Given the description of an element on the screen output the (x, y) to click on. 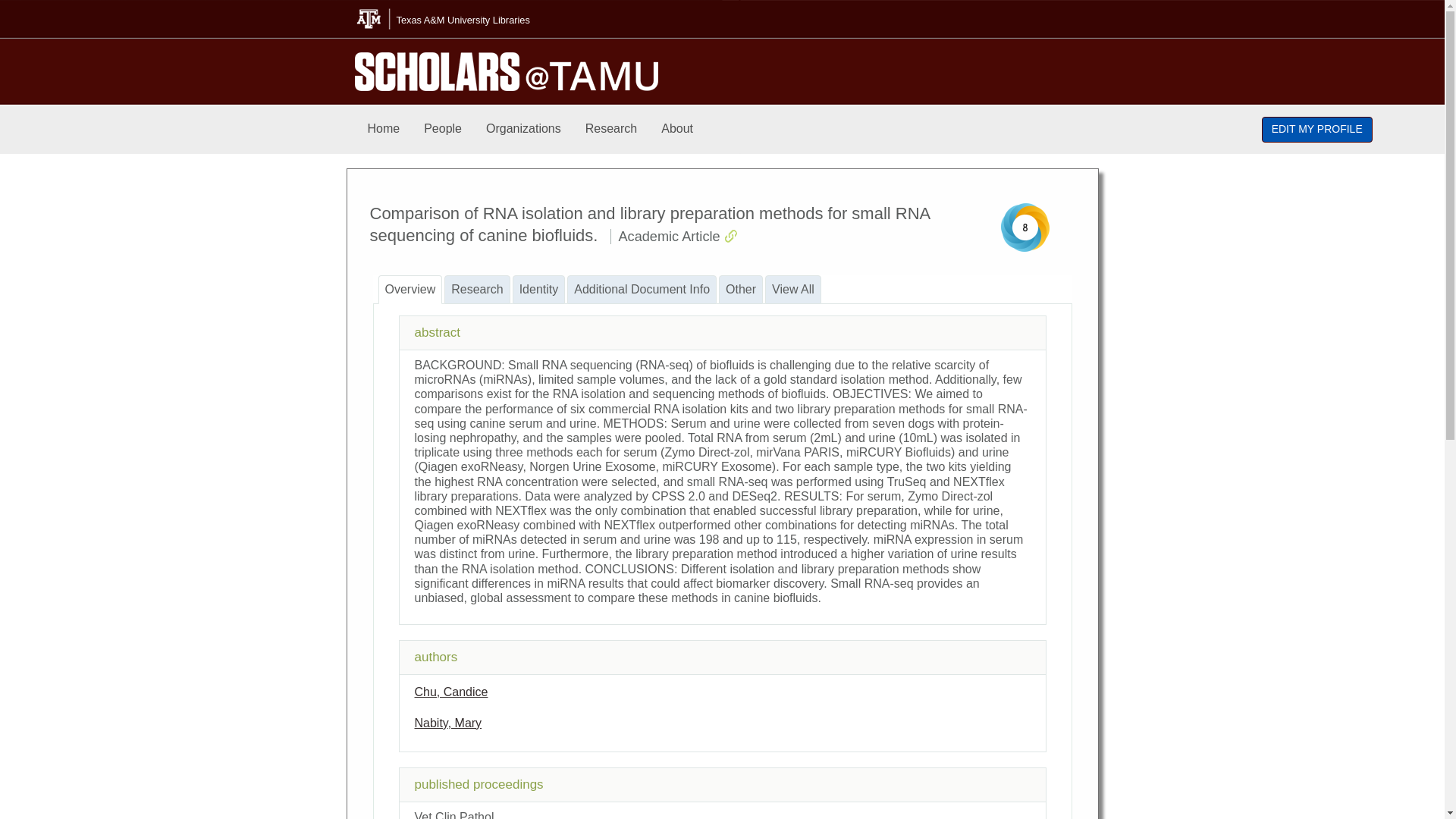
Organizations (523, 128)
People (443, 128)
Research menu item (611, 128)
About menu item (676, 128)
author name (447, 722)
Home menu item (383, 128)
EDIT MY PROFILE (1317, 129)
About (676, 128)
Organizations menu item (523, 128)
People menu item (443, 128)
Chu, Candice (450, 691)
Research (611, 128)
Nabity, Mary (447, 722)
Home (383, 128)
author name (450, 691)
